Given the description of an element on the screen output the (x, y) to click on. 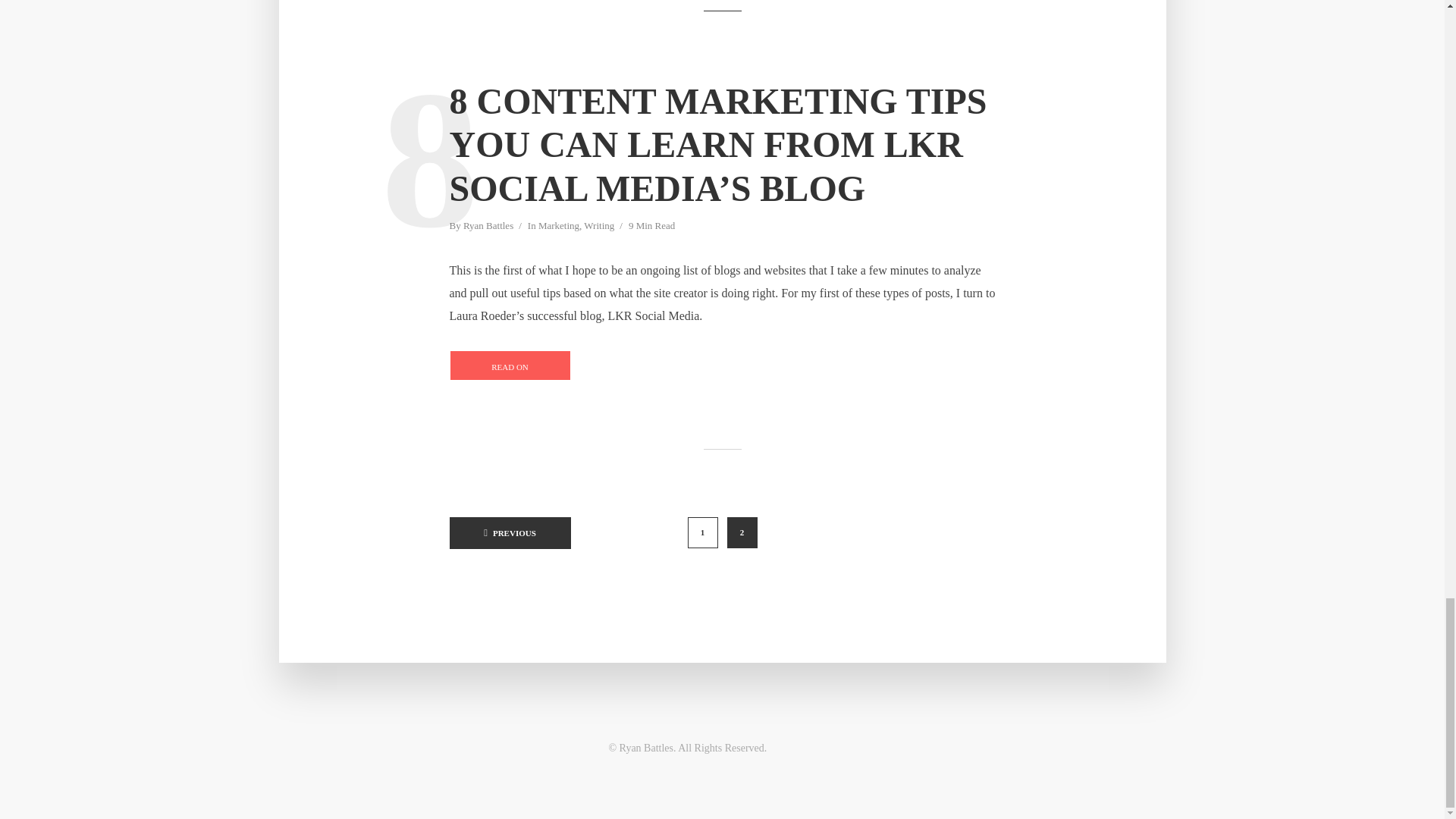
Writing (598, 227)
Marketing (558, 227)
PREVIOUS (509, 532)
Ryan Battles (488, 227)
1 (702, 531)
READ ON (509, 365)
